Given the description of an element on the screen output the (x, y) to click on. 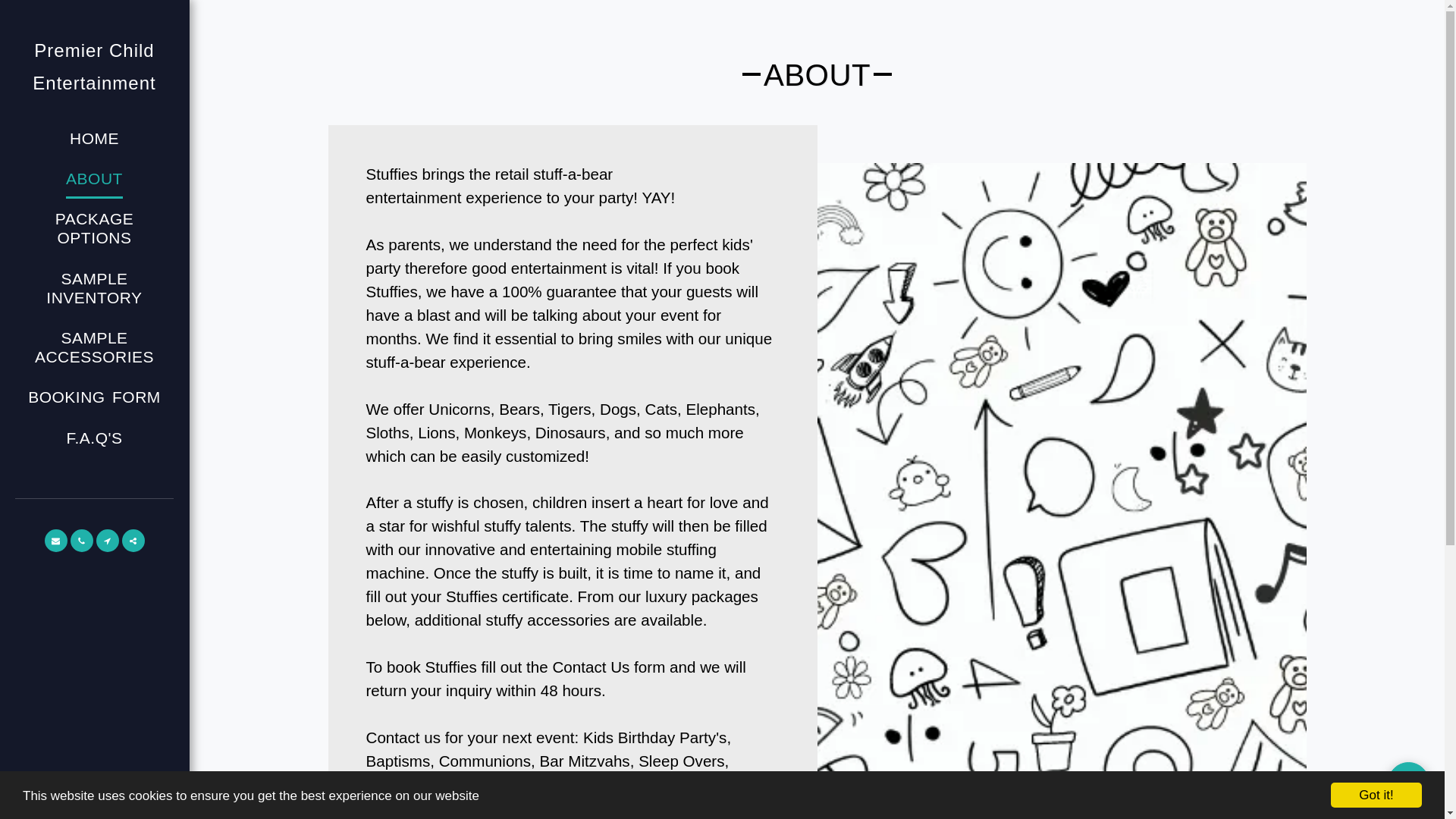
ABOUT (93, 180)
Premier Child Entertainment (93, 66)
F.A.Q'S (93, 438)
PACKAGE OPTIONS (93, 229)
SAMPLE ACCESSORIES (93, 347)
BOOKING FORM (93, 398)
SAMPLE INVENTORY (93, 288)
